Given the description of an element on the screen output the (x, y) to click on. 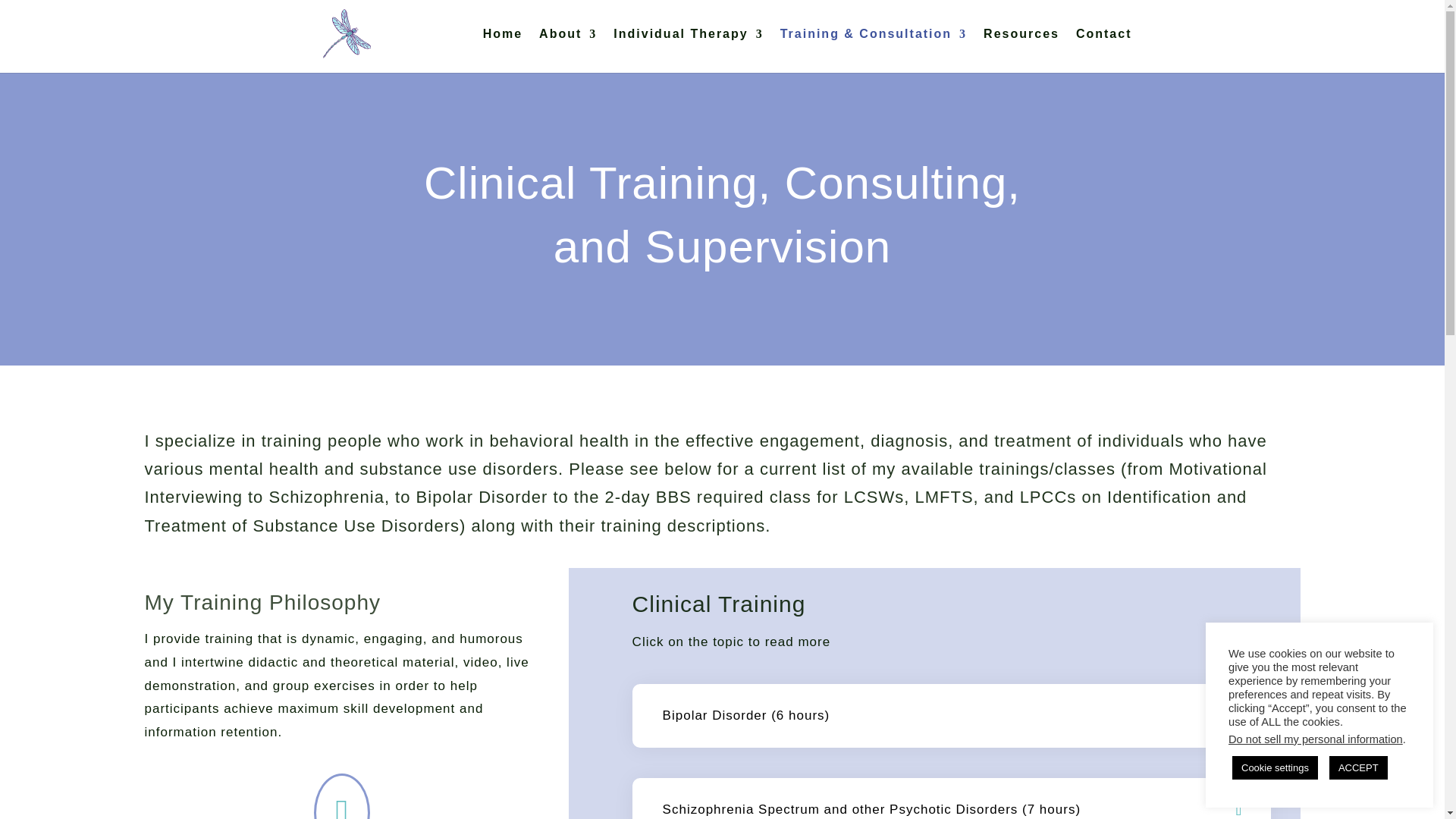
Home (502, 47)
About (567, 47)
Do not sell my personal information (1315, 739)
Resources (1021, 47)
Cookie settings (1274, 767)
ACCEPT (1358, 767)
Individual Therapy (687, 47)
Contact (1103, 47)
